Given the description of an element on the screen output the (x, y) to click on. 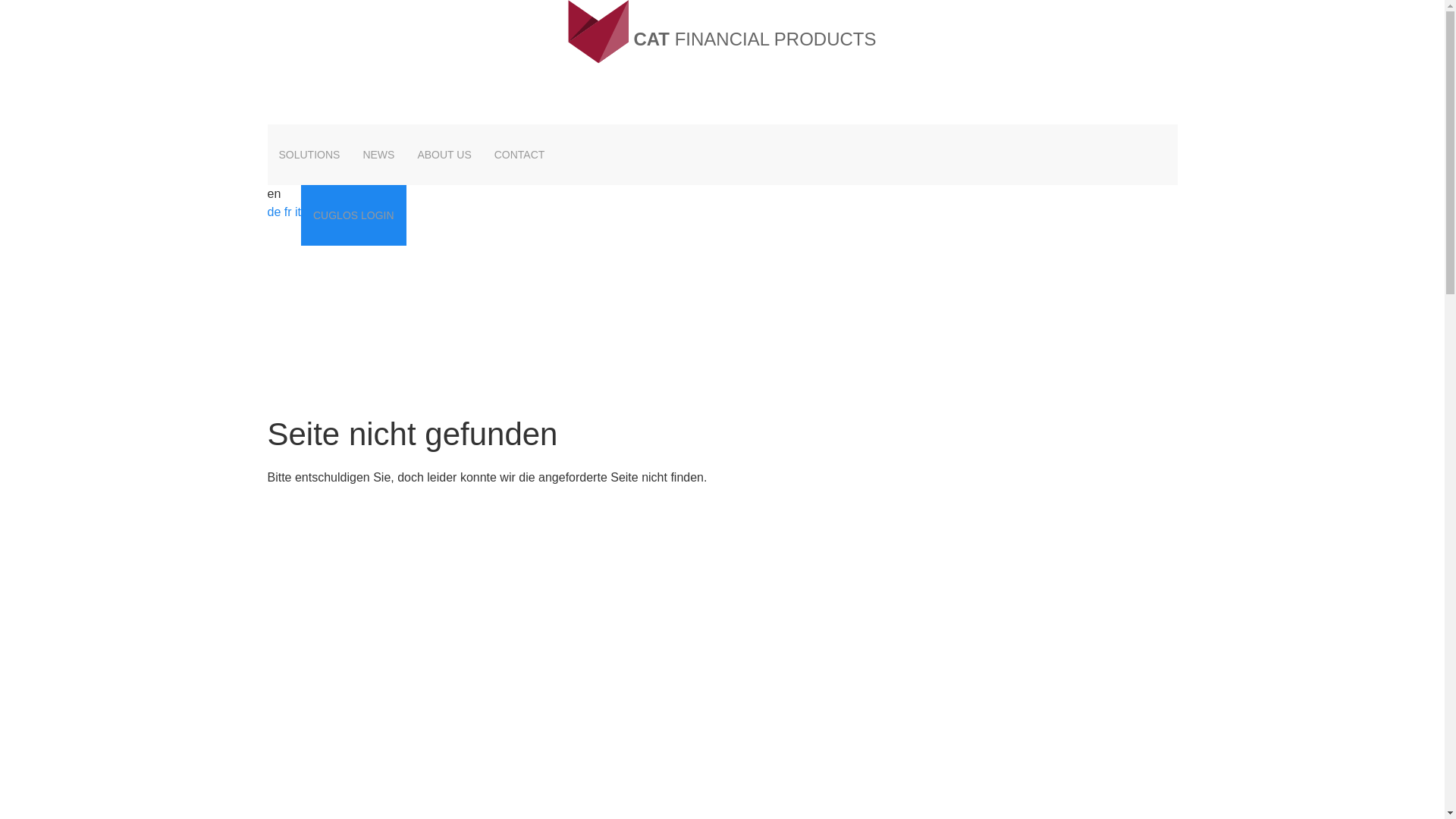
NEWS Element type: text (378, 154)
fr Element type: text (287, 211)
CUGLOS LOGIN Element type: text (353, 215)
ABOUT US Element type: text (443, 154)
SOLUTIONS Element type: text (308, 154)
CONTACT Element type: text (519, 154)
CAT FINANCIAL PRODUCTS Element type: text (721, 31)
it Element type: text (297, 211)
de Element type: text (273, 211)
